Given the description of an element on the screen output the (x, y) to click on. 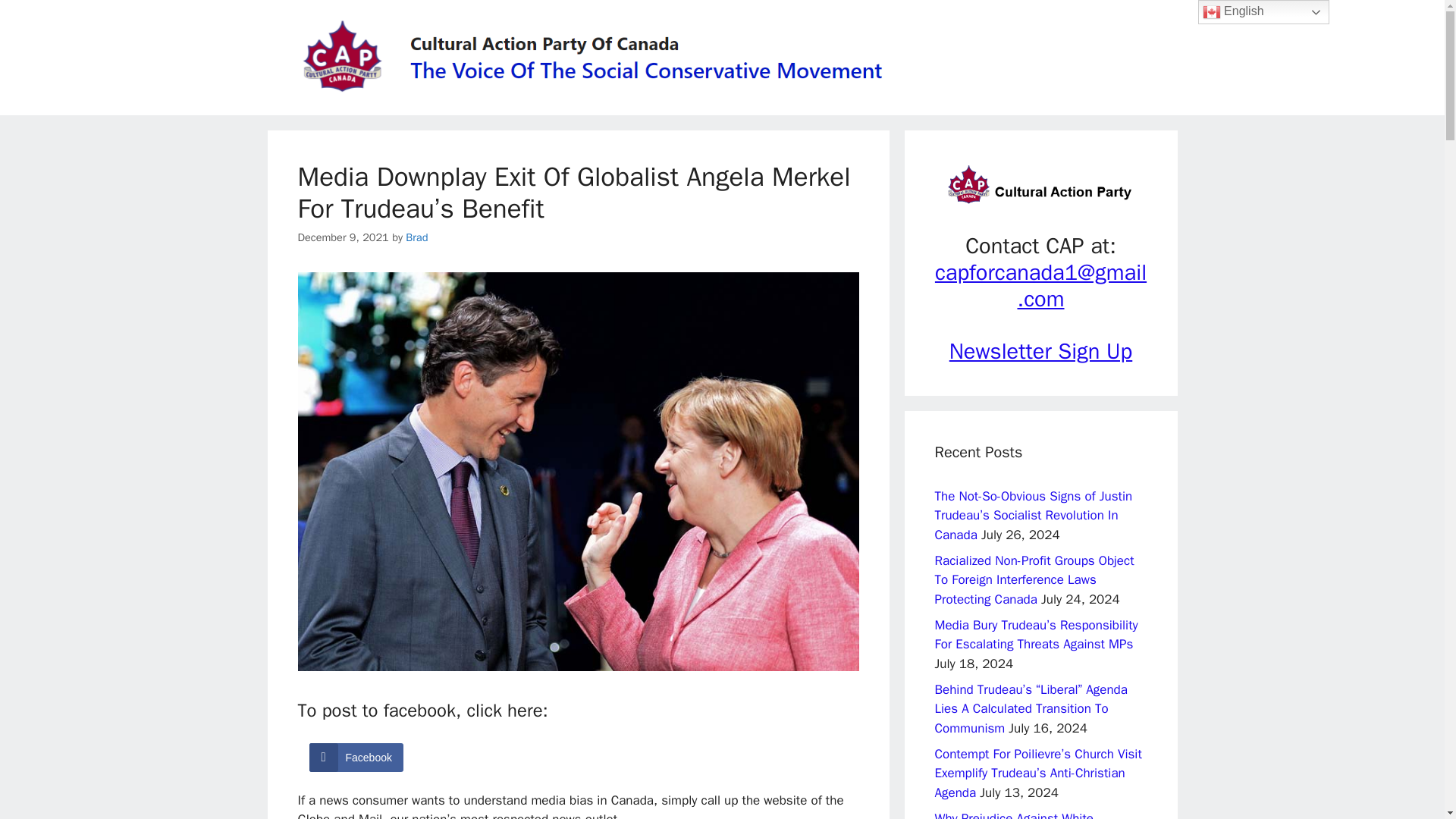
View all posts by Brad (417, 237)
Brad (417, 237)
Facebook (355, 757)
Newsletter Sign Up (1040, 351)
